Given the description of an element on the screen output the (x, y) to click on. 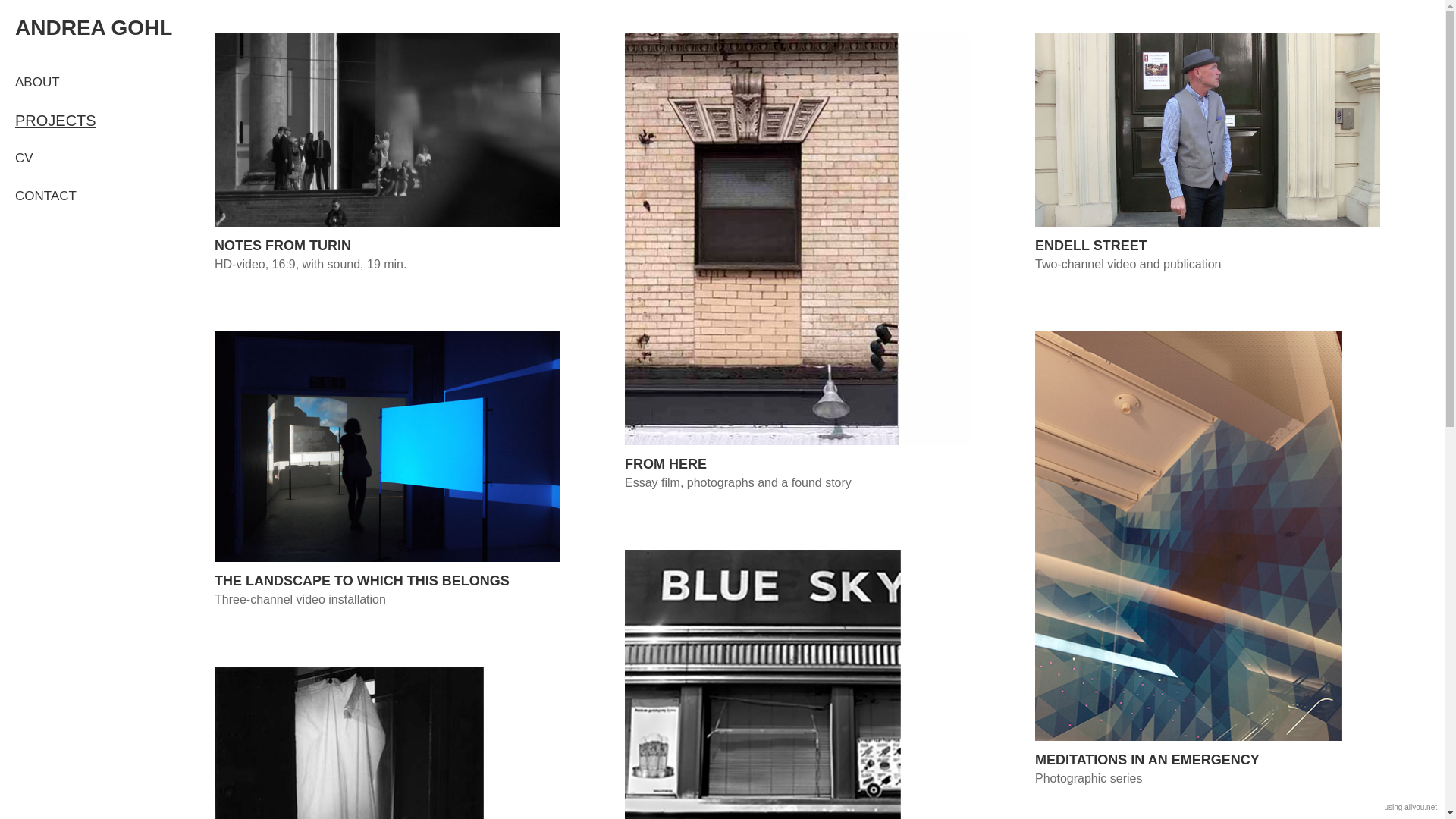
MEDITATIONS IN AN EMERGENCY
Photographic series Element type: text (1207, 559)
CV Element type: text (90, 158)
CONTACT Element type: text (90, 196)
allyou.net Element type: text (1420, 807)
ANDREA GOHL Element type: text (98, 27)
FROM HERE
Essay film, photographs and a found story Element type: text (796, 262)
PROJECTS Element type: text (90, 120)
ABOUT Element type: text (90, 82)
ENDELL STREET
Two-channel video and publication  Element type: text (1207, 152)
NOTES FROM TURIN
HD-video, 16:9, with sound, 19 min. Element type: text (386, 152)
